Given the description of an element on the screen output the (x, y) to click on. 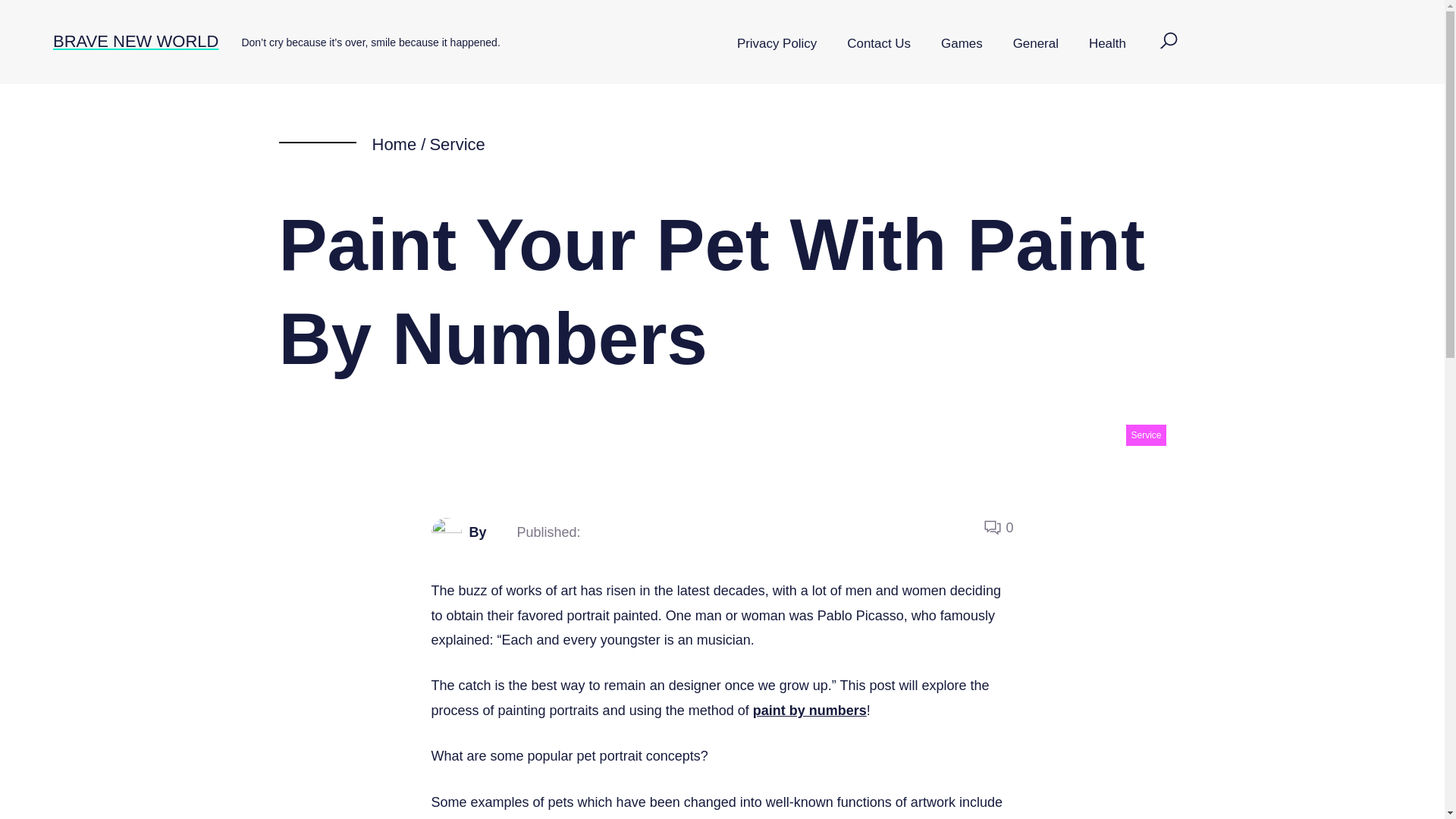
Home (393, 144)
Service (456, 144)
Games (961, 43)
Health (1107, 43)
BRAVE NEW WORLD (135, 40)
paint by numbers (809, 710)
Privacy Policy (776, 43)
Contact Us (878, 43)
Service (1145, 435)
General (1035, 43)
